Given the description of an element on the screen output the (x, y) to click on. 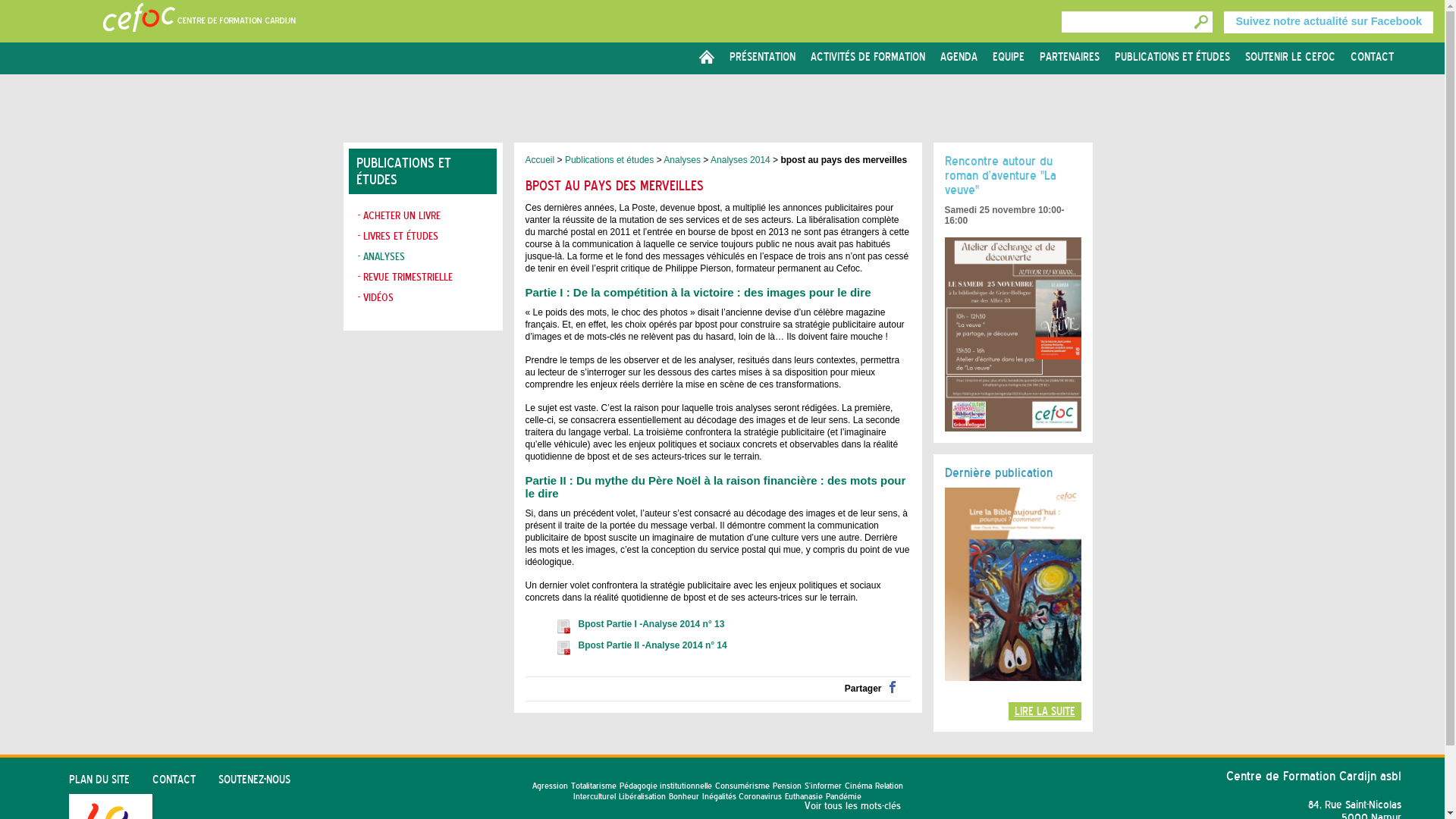
Coronavirus Element type: text (759, 796)
Accueil Element type: hover (706, 58)
Bonheur Element type: text (683, 796)
- Analyses Element type: text (380, 256)
Partenaires Element type: text (1069, 56)
- Acheter un livre Element type: text (398, 215)
Centre de formation Cardijn Element type: hover (199, 43)
Soutenir le Cefoc Element type: text (1290, 56)
Lire la suite Element type: text (1044, 711)
Euthanasie Element type: text (803, 796)
Rechercher Element type: hover (1200, 21)
Analyses Element type: text (681, 159)
Accueil Element type: text (539, 159)
  Element type: text (1200, 21)
Pension Element type: text (786, 785)
Relation Element type: text (889, 785)
- Revue trimestrielle Element type: text (404, 276)
Equipe Element type: text (1008, 56)
Analyses 2014 Element type: text (740, 159)
Agenda Element type: text (958, 56)
Soutenez-Nous Element type: text (254, 779)
Contact Element type: text (173, 779)
Rencontre autour du roman d'aventure "La veuve" Element type: hover (1017, 332)
Interculturel Element type: text (594, 796)
Agression Element type: text (549, 785)
Contact Element type: text (1372, 56)
Totalitarisme Element type: text (593, 785)
Plan du site Element type: text (99, 779)
